Given the description of an element on the screen output the (x, y) to click on. 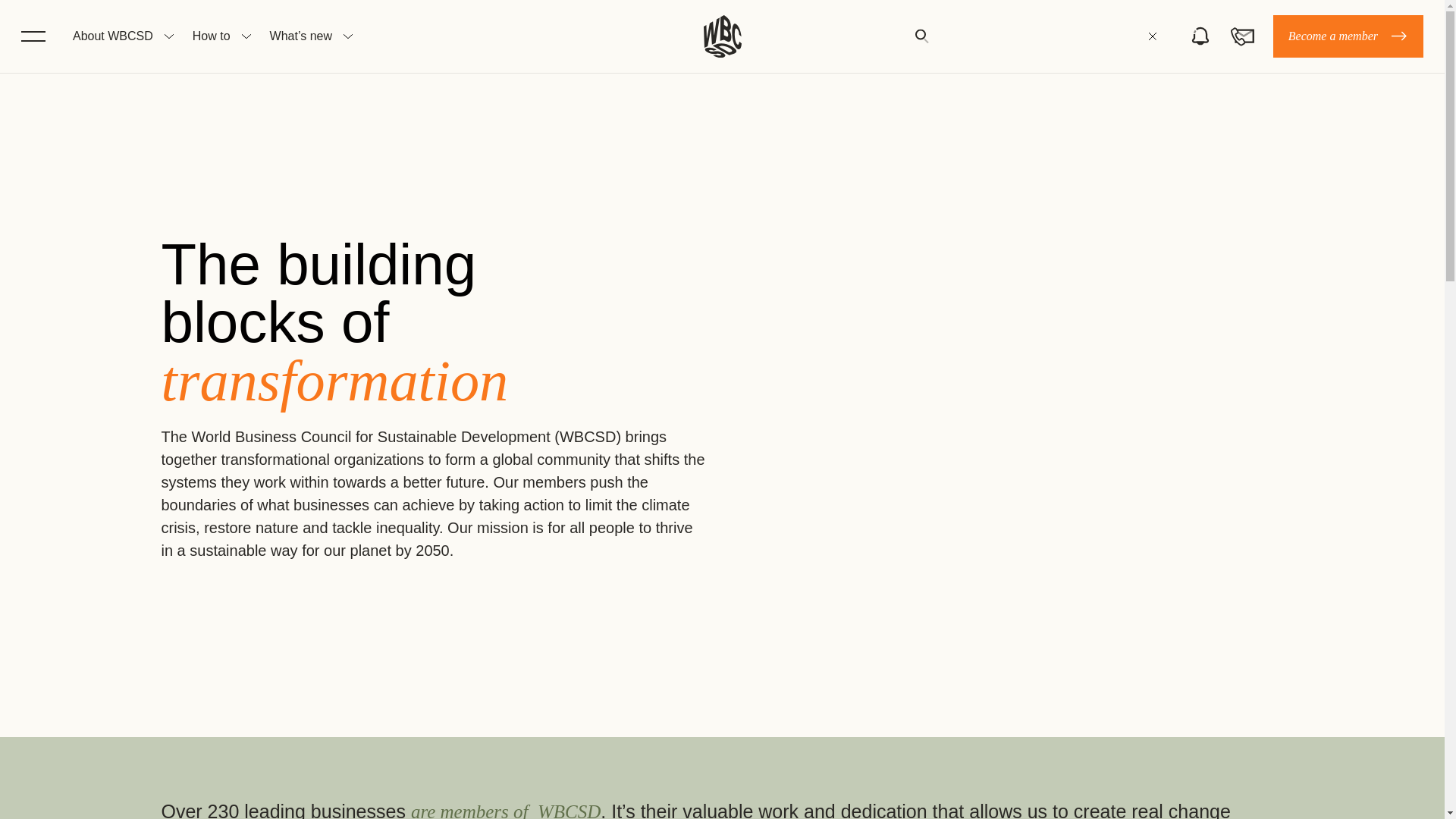
How to (210, 36)
About WBCSD (112, 36)
Become a member (1347, 36)
